Given the description of an element on the screen output the (x, y) to click on. 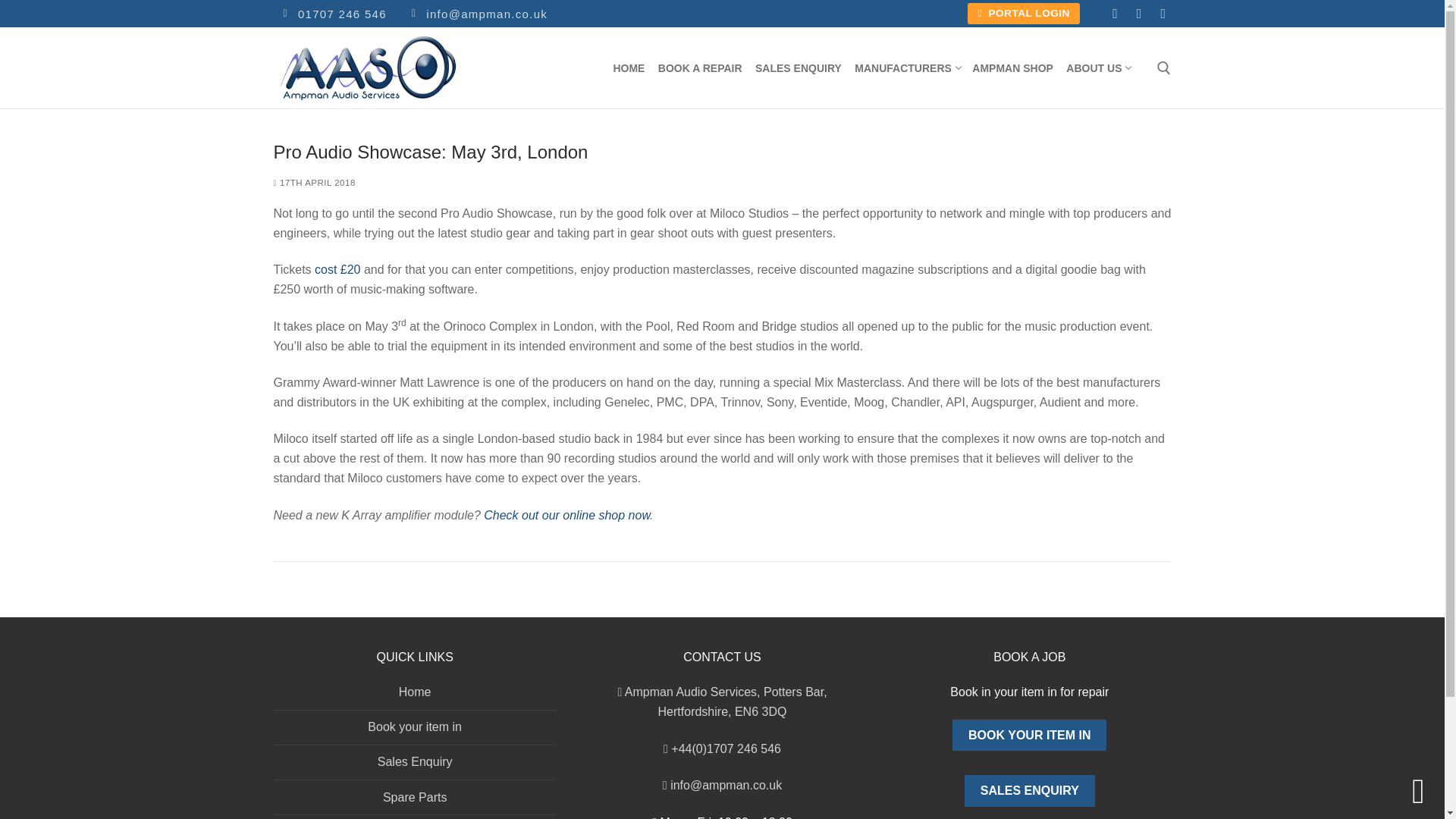
Facebook (1115, 13)
PORTAL LOGIN (1024, 13)
BOOK A REPAIR (700, 67)
HOME (628, 67)
Book Your Item In (1029, 735)
Pro Audio Showcase: May 3rd, London (906, 67)
Sales Enquiry (721, 151)
01707 246 546 (1028, 790)
Twitter (332, 13)
AMPMAN SHOP (1163, 13)
Instagram (1013, 67)
SALES ENQUIRY (1138, 13)
